Given the description of an element on the screen output the (x, y) to click on. 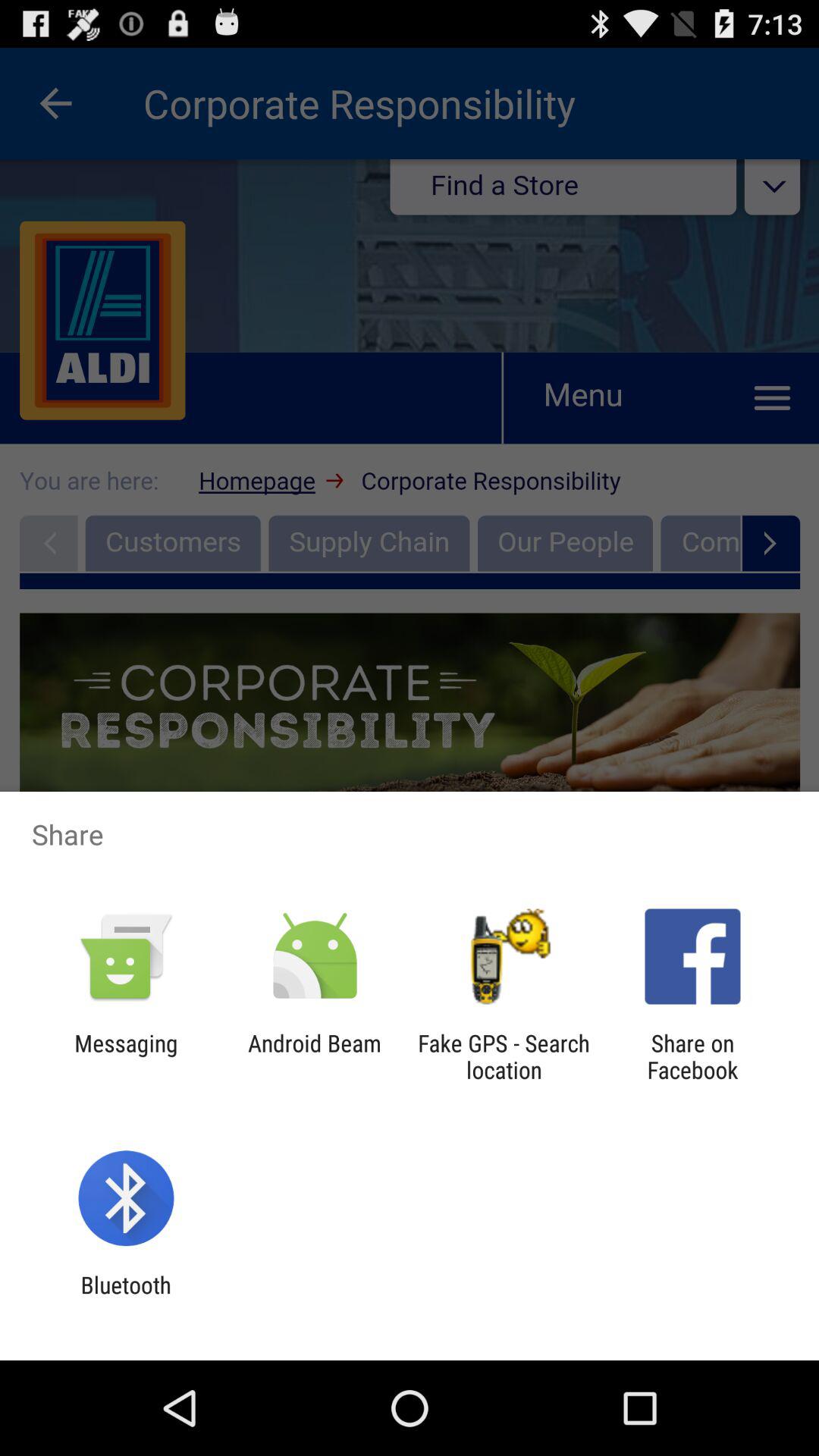
choose icon next to the messaging app (314, 1056)
